Given the description of an element on the screen output the (x, y) to click on. 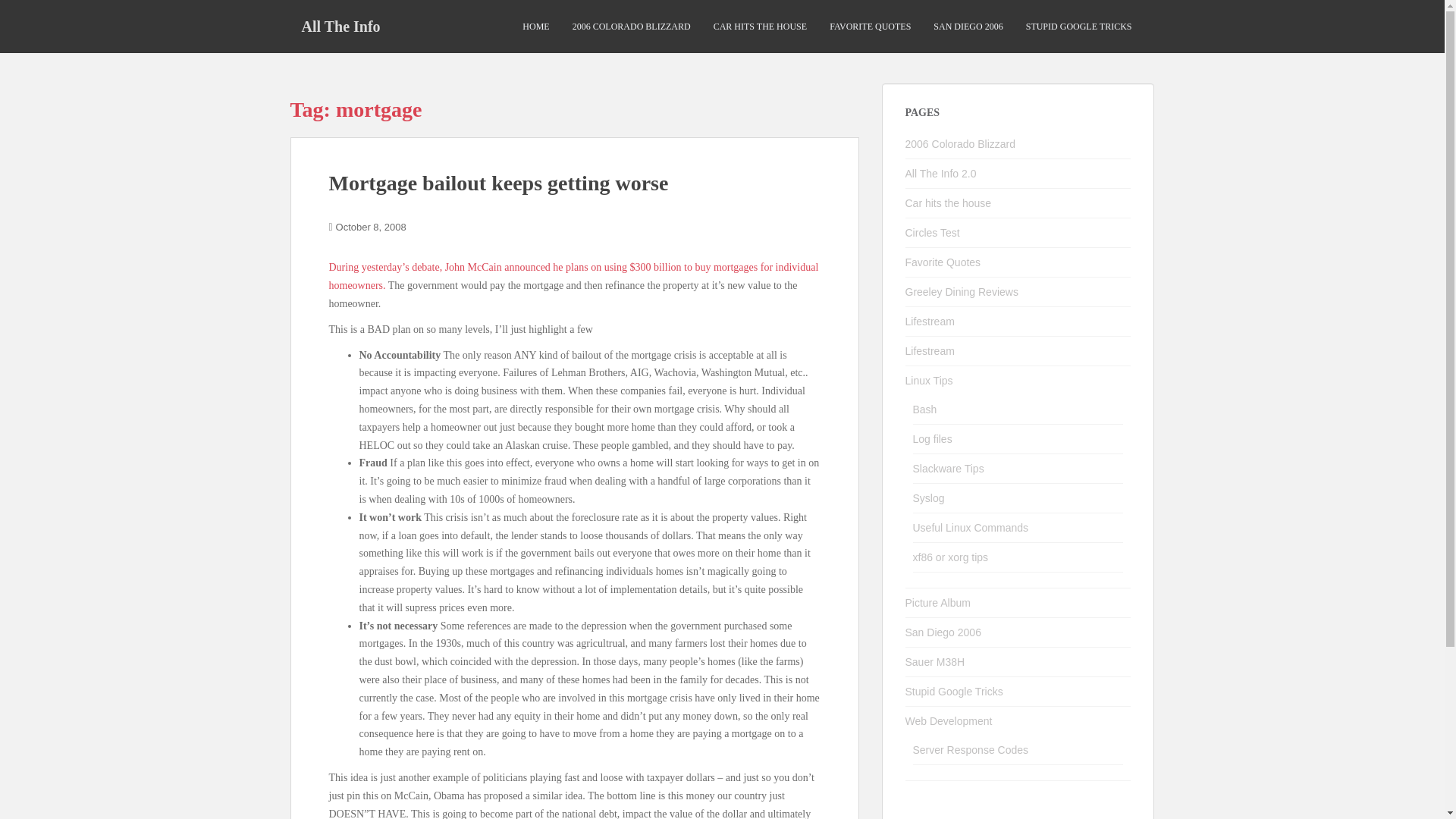
All The Info 2.0 (940, 173)
Syslog (928, 498)
Bash (924, 409)
STUPID GOOGLE TRICKS (1079, 26)
Web Development (948, 720)
Linux Tips (929, 380)
October 8, 2008 (371, 226)
FAVORITE QUOTES (870, 26)
Greeley Dining Reviews (961, 291)
Lifestream (930, 350)
